Given the description of an element on the screen output the (x, y) to click on. 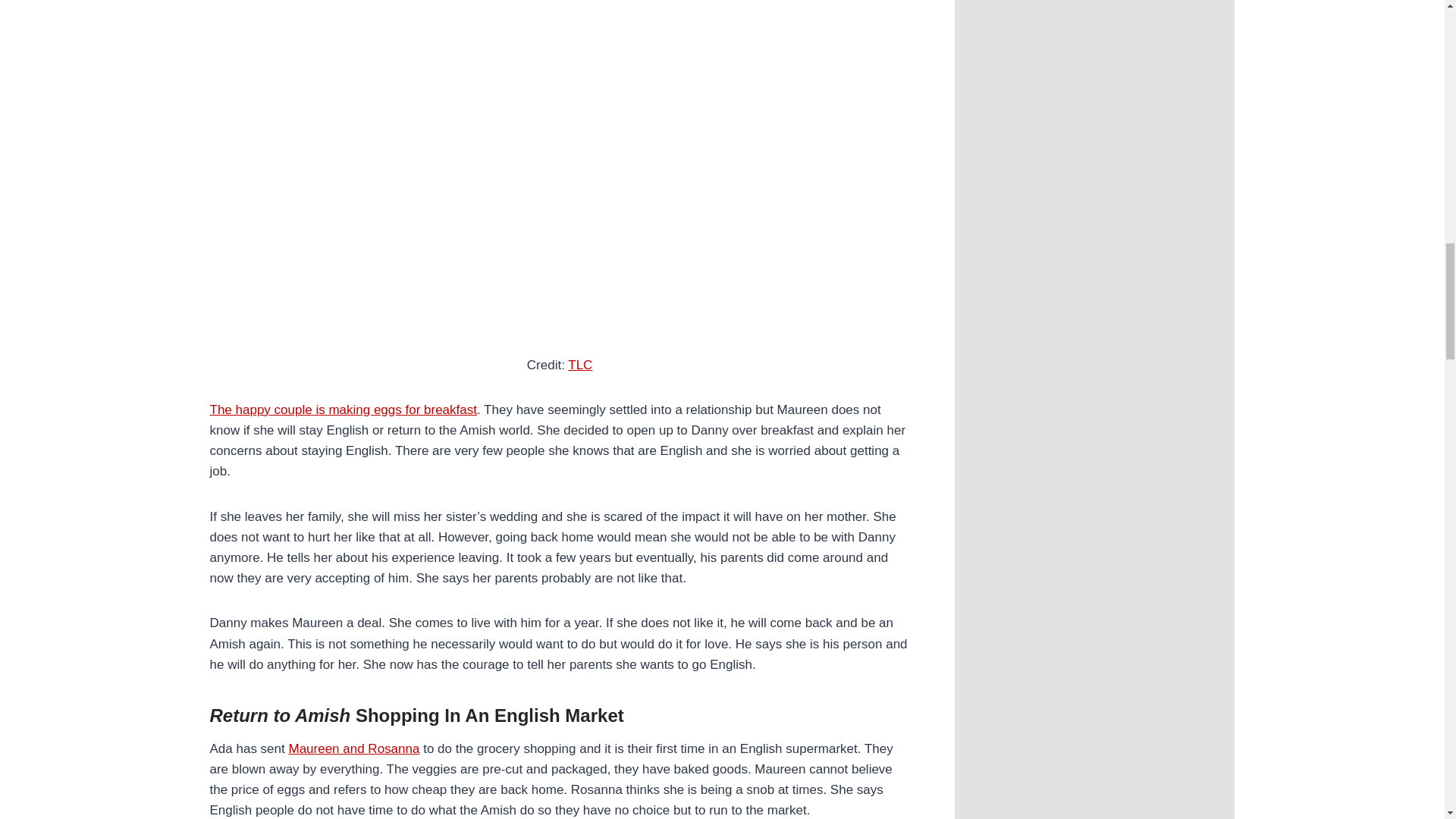
The happy couple is making eggs for breakfast (342, 409)
TLC (579, 364)
Maureen and Rosanna (353, 748)
